Given the description of an element on the screen output the (x, y) to click on. 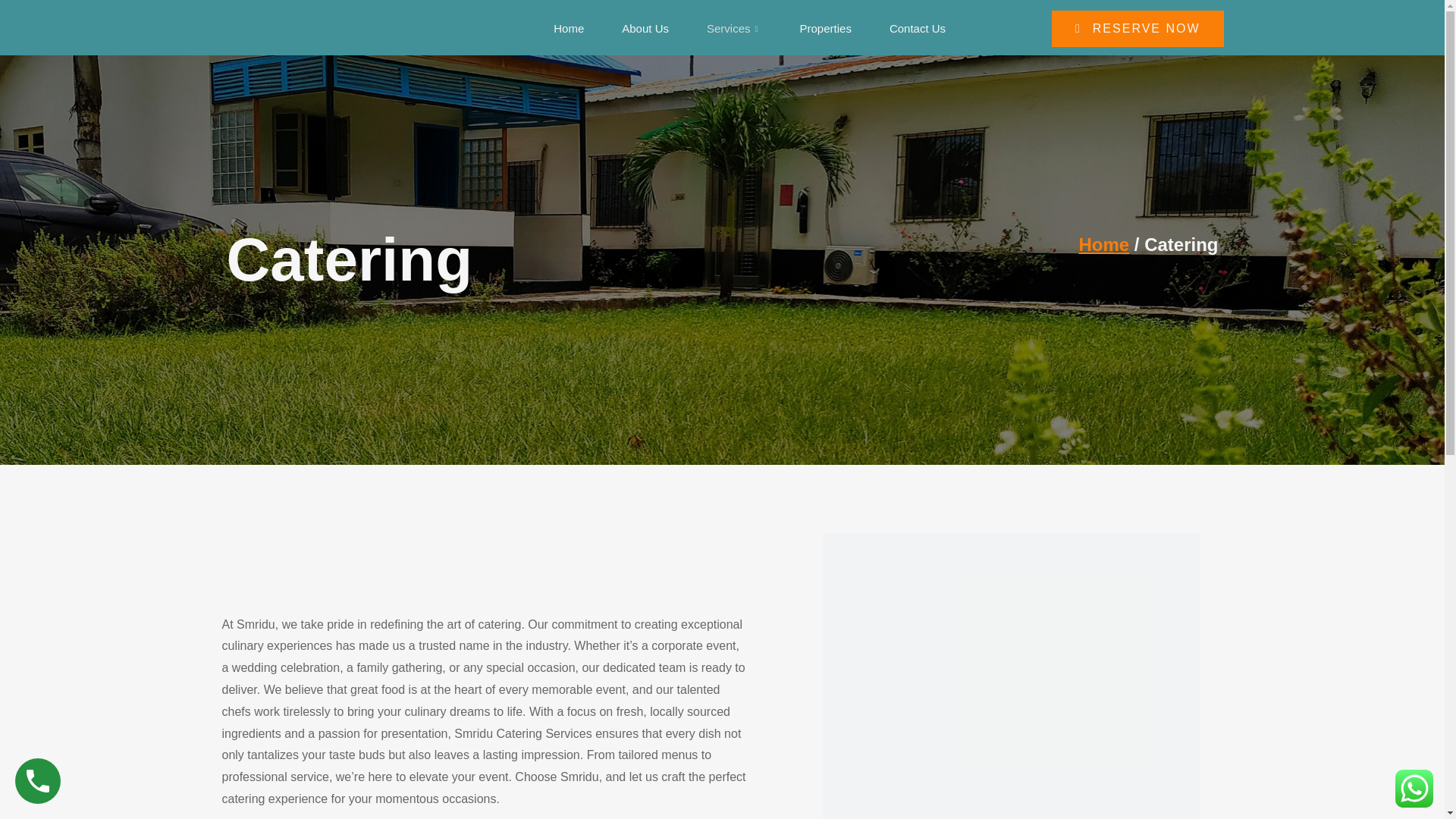
Home (1103, 244)
Home (568, 28)
Properties (825, 28)
About Us (644, 28)
Services (733, 28)
RESERVE NOW (1137, 28)
Contact Us (916, 28)
